Given the description of an element on the screen output the (x, y) to click on. 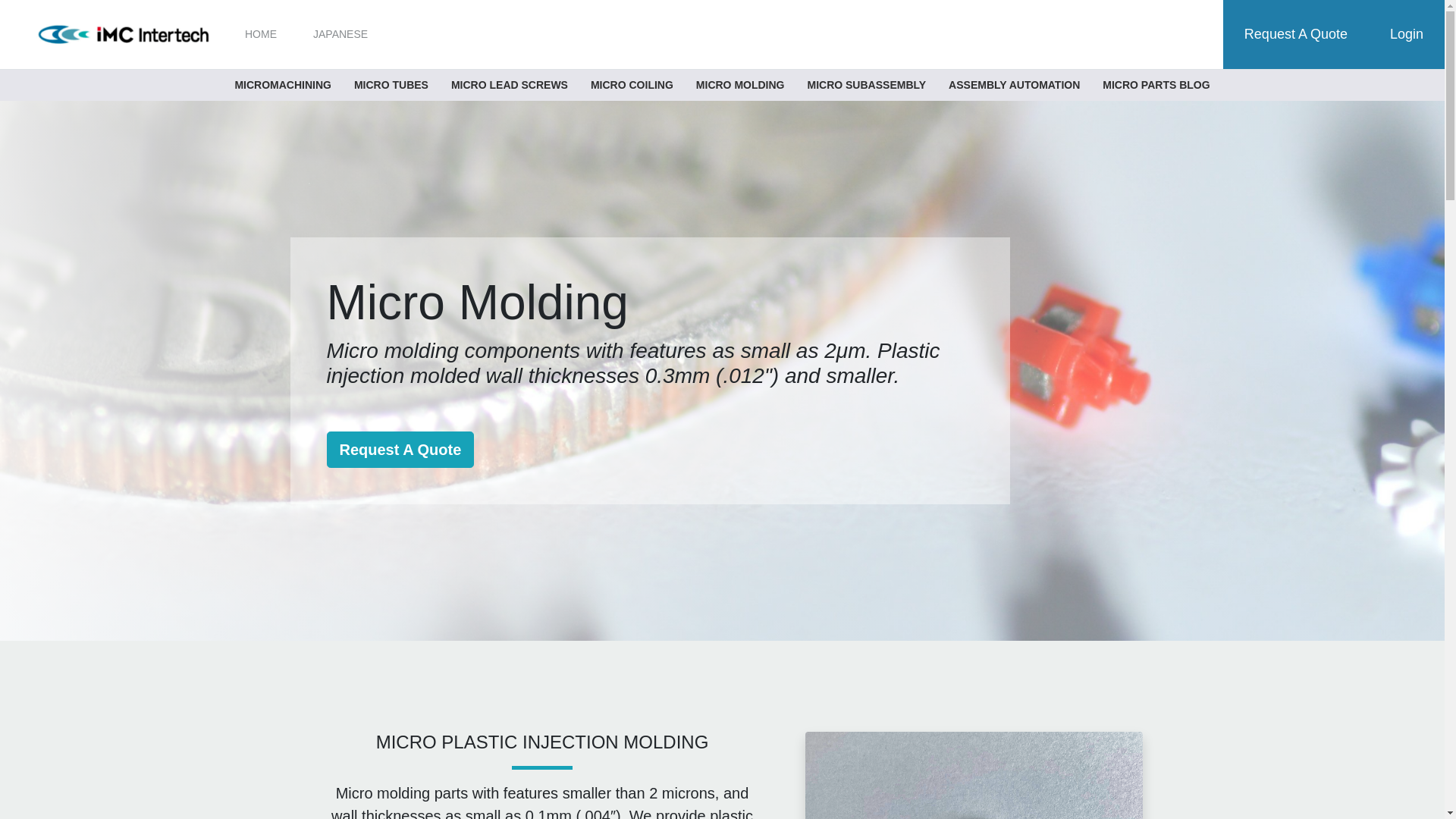
MICRO COILING (631, 84)
Request A Quote (1295, 34)
Japanese (340, 33)
MICROMACHINING (282, 84)
MICRO TUBES (390, 84)
HOME (261, 33)
JAPANESE (340, 33)
ASSEMBLY AUTOMATION (1013, 84)
Request A Quote (400, 449)
MICRO PARTS BLOG (1155, 84)
